Given the description of an element on the screen output the (x, y) to click on. 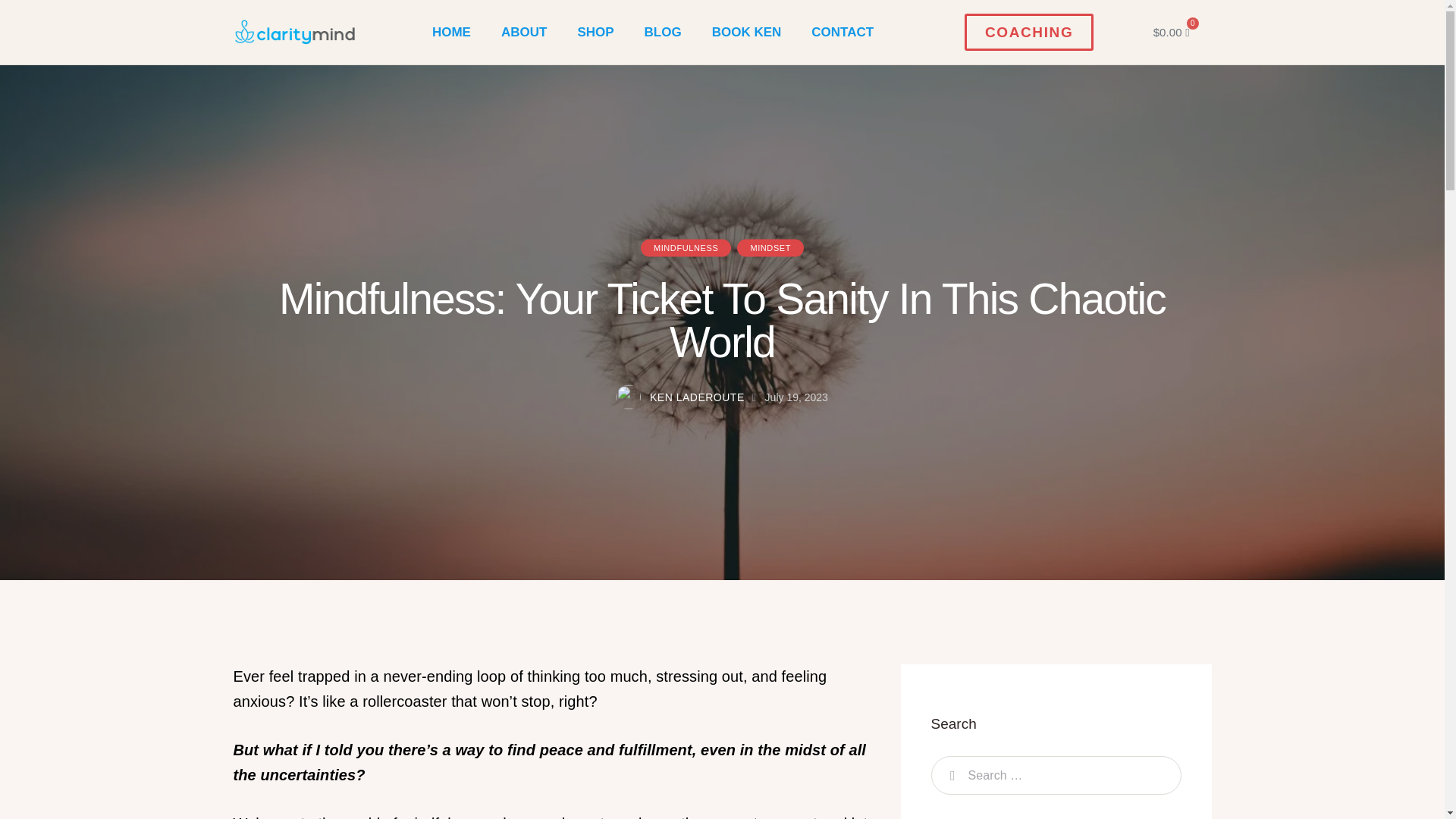
Search (949, 775)
Search (949, 775)
COACHING (1028, 31)
BLOG (662, 32)
CONTACT (842, 32)
BOOK KEN (746, 32)
ABOUT (524, 32)
SHOP (595, 32)
HOME (451, 32)
